Given the description of an element on the screen output the (x, y) to click on. 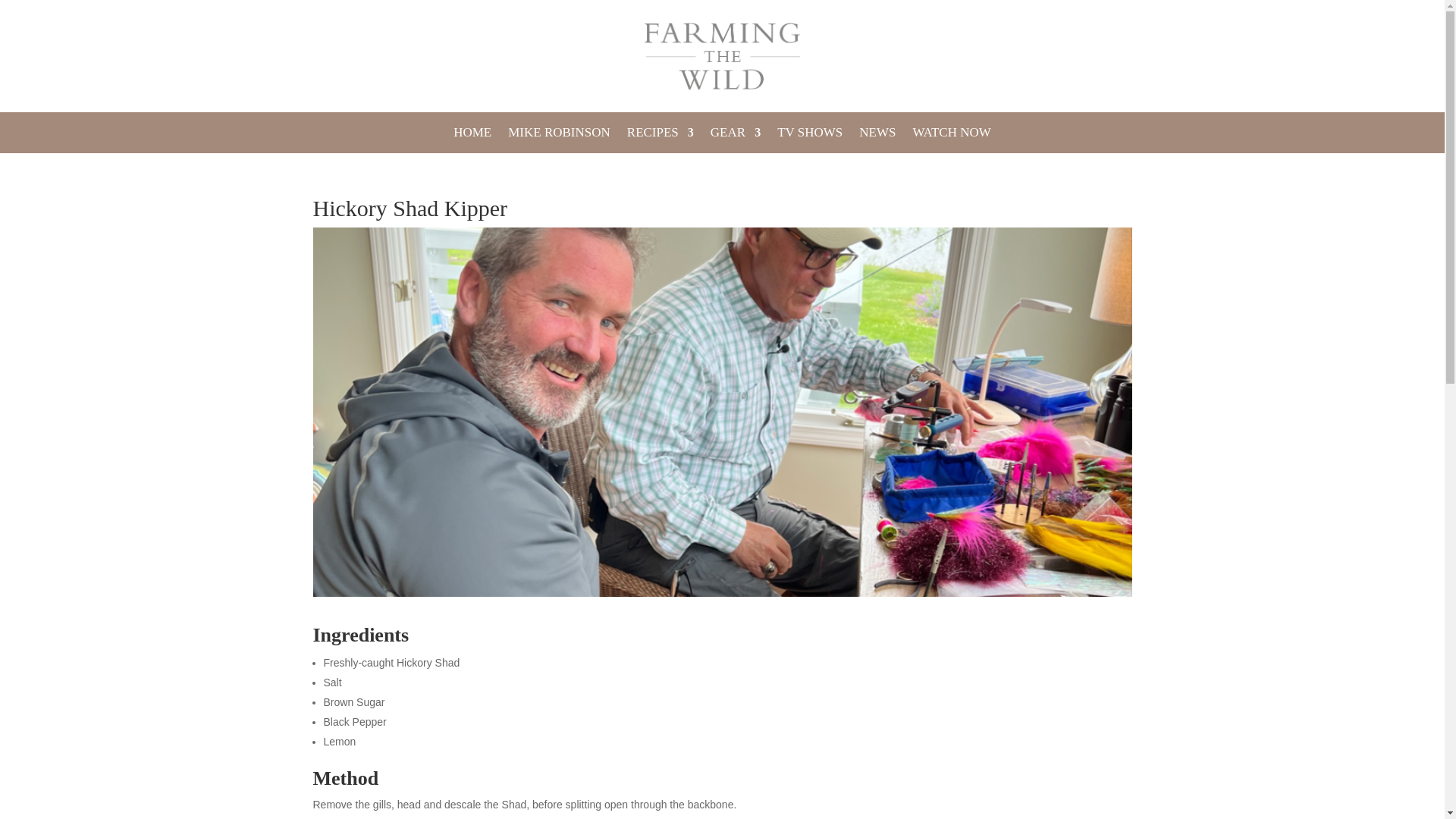
RECIPES (660, 135)
WATCH NOW (951, 135)
logo-text (722, 55)
NEWS (877, 135)
GEAR (735, 135)
MIKE ROBINSON (559, 135)
HOME (472, 135)
TV SHOWS (810, 135)
